Given the description of an element on the screen output the (x, y) to click on. 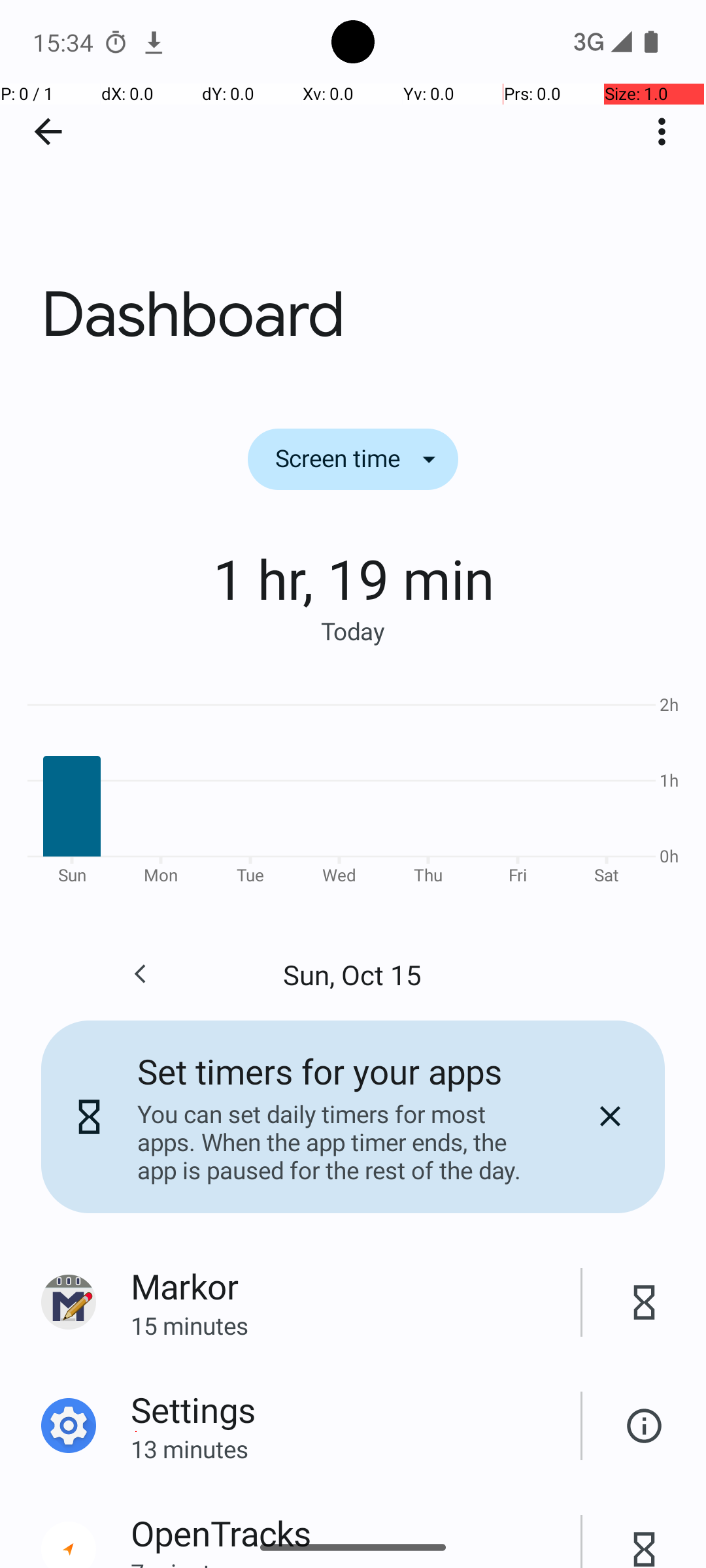
Dashboard Element type: android.widget.FrameLayout (353, 195)
1 hr, 19 min Element type: android.widget.TextView (353, 577)
Set timers for your apps Element type: android.widget.TextView (319, 1070)
You can set daily timers for most apps. When the app timer ends, the app is paused for the rest of the day. Element type: android.widget.TextView (339, 1141)
Dismiss card Element type: android.widget.Button (609, 1116)
15 minutes Element type: android.widget.TextView (355, 1325)
No timer set for Markor Element type: android.widget.FrameLayout (644, 1302)
13 minutes Element type: android.widget.TextView (355, 1448)
Can't set timer Element type: android.widget.FrameLayout (644, 1425)
7 minutes Element type: android.widget.TextView (355, 1562)
No timer set for OpenTracks Element type: android.widget.FrameLayout (644, 1534)
Bar Chart. Showing Phone usage data with 7 data points. Element type: android.view.ViewGroup (353, 787)
